Given the description of an element on the screen output the (x, y) to click on. 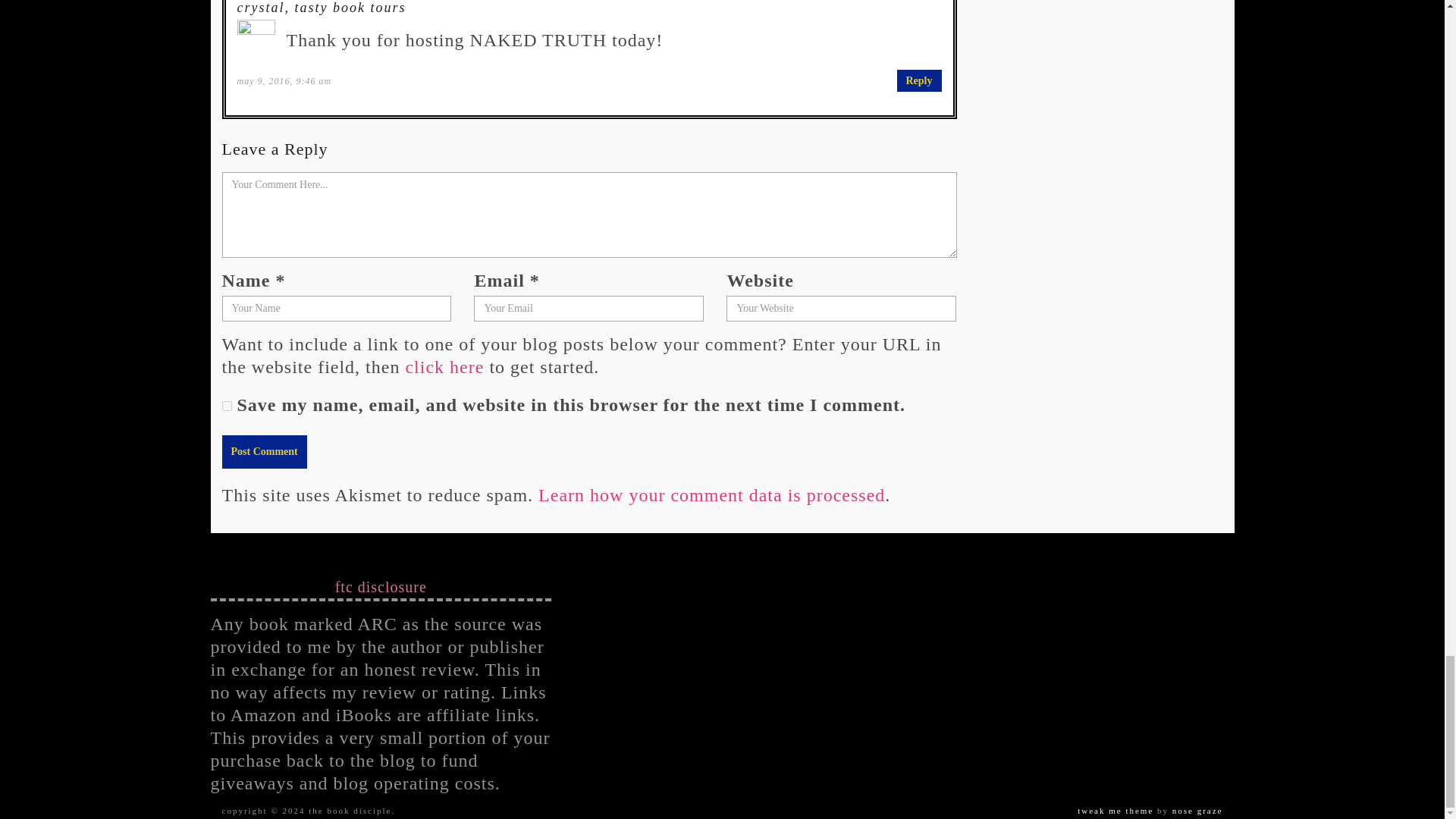
Post Comment (263, 451)
yes (226, 406)
